Given the description of an element on the screen output the (x, y) to click on. 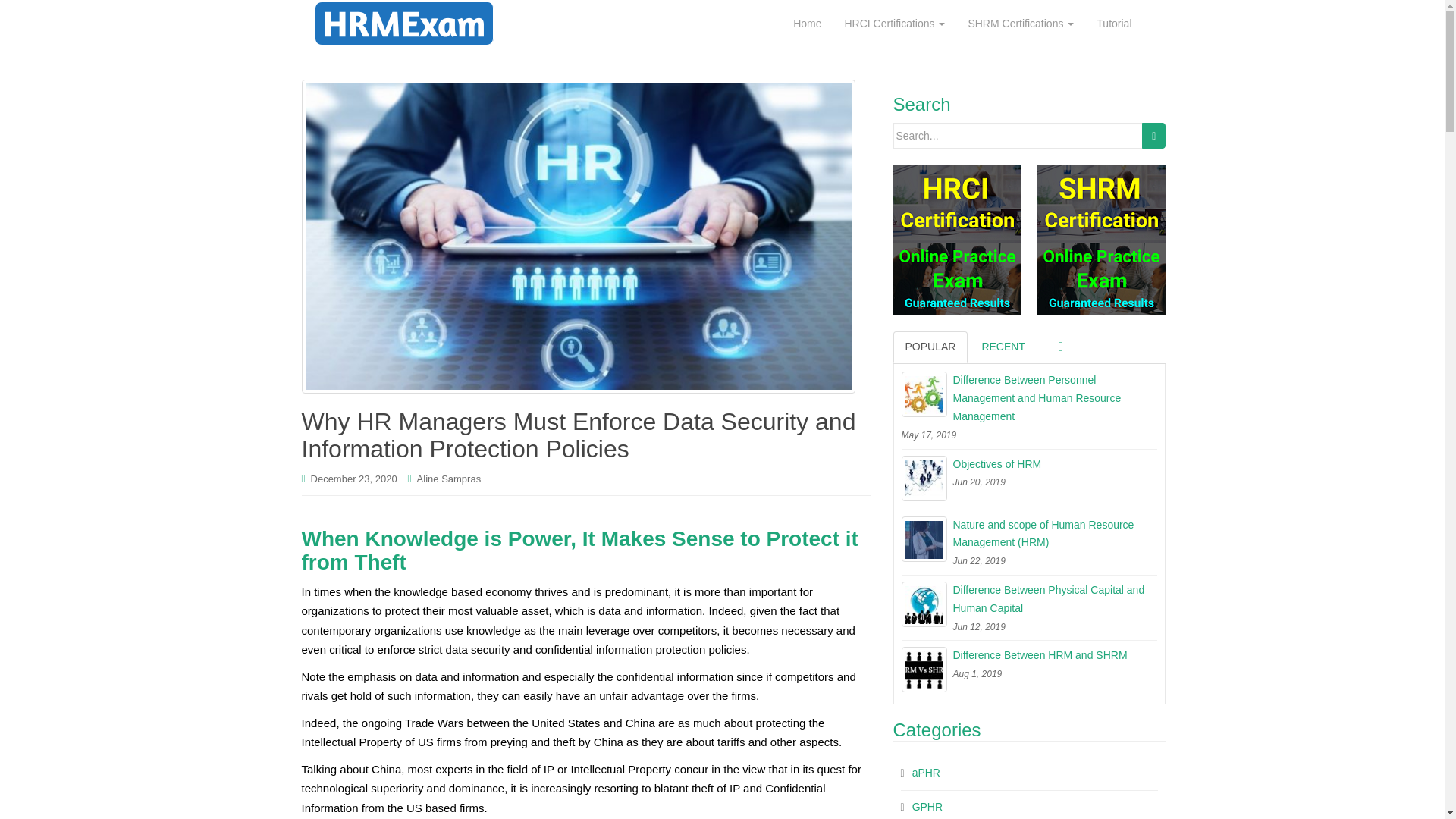
December 23, 2020 (354, 478)
HRCI Certifications (894, 24)
SHRM Certifications (1020, 24)
Search (1153, 135)
Home (806, 24)
HRCI Certifications (894, 24)
Aline Sampras (448, 478)
Home (806, 24)
RECENT (1002, 347)
